Given the description of an element on the screen output the (x, y) to click on. 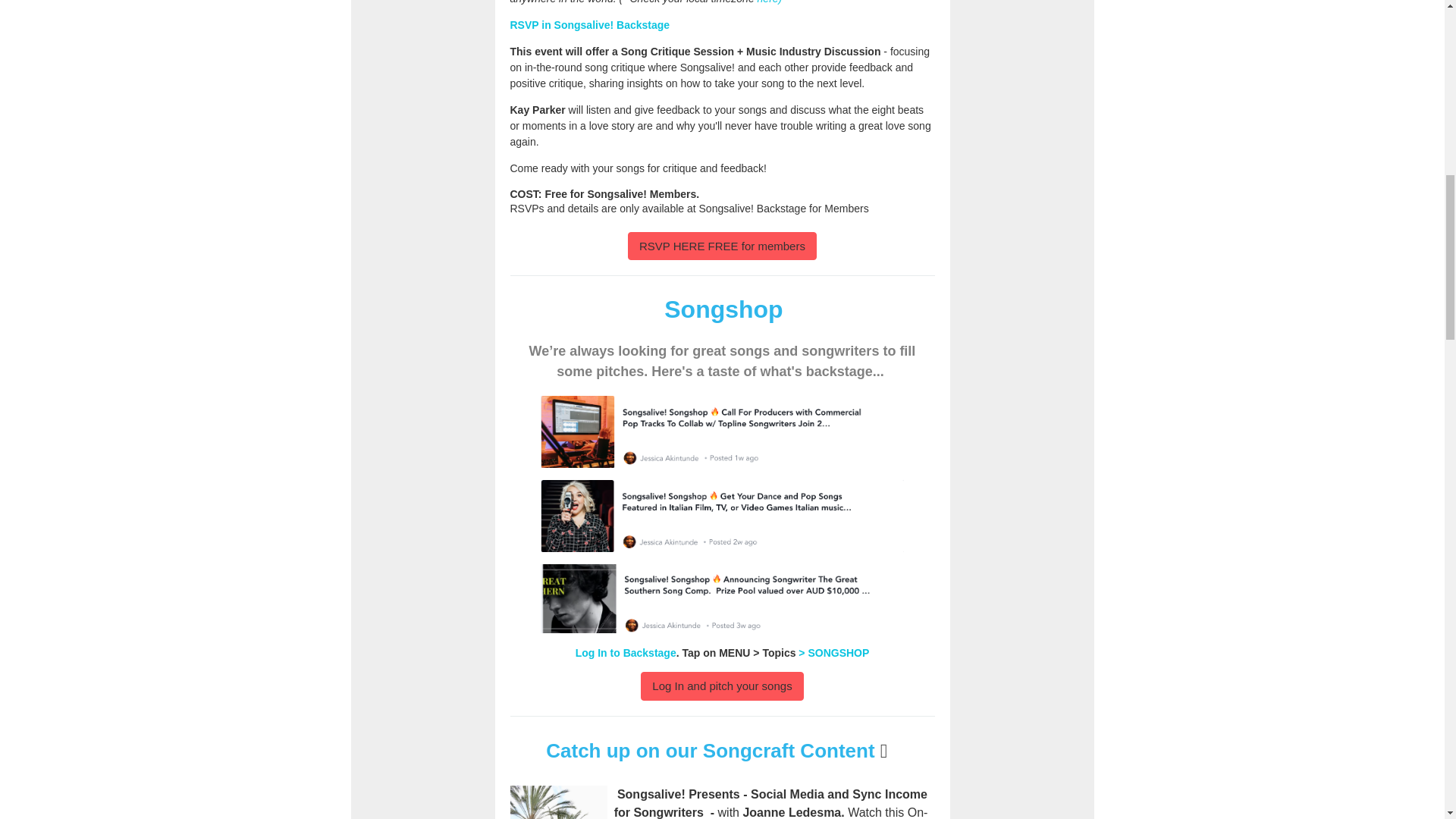
RSVP in Songsalive! Backstage (589, 24)
Log In and pitch your songs (721, 685)
Log In to Backstage (626, 653)
RSVP HERE FREE for members (721, 245)
